Given the description of an element on the screen output the (x, y) to click on. 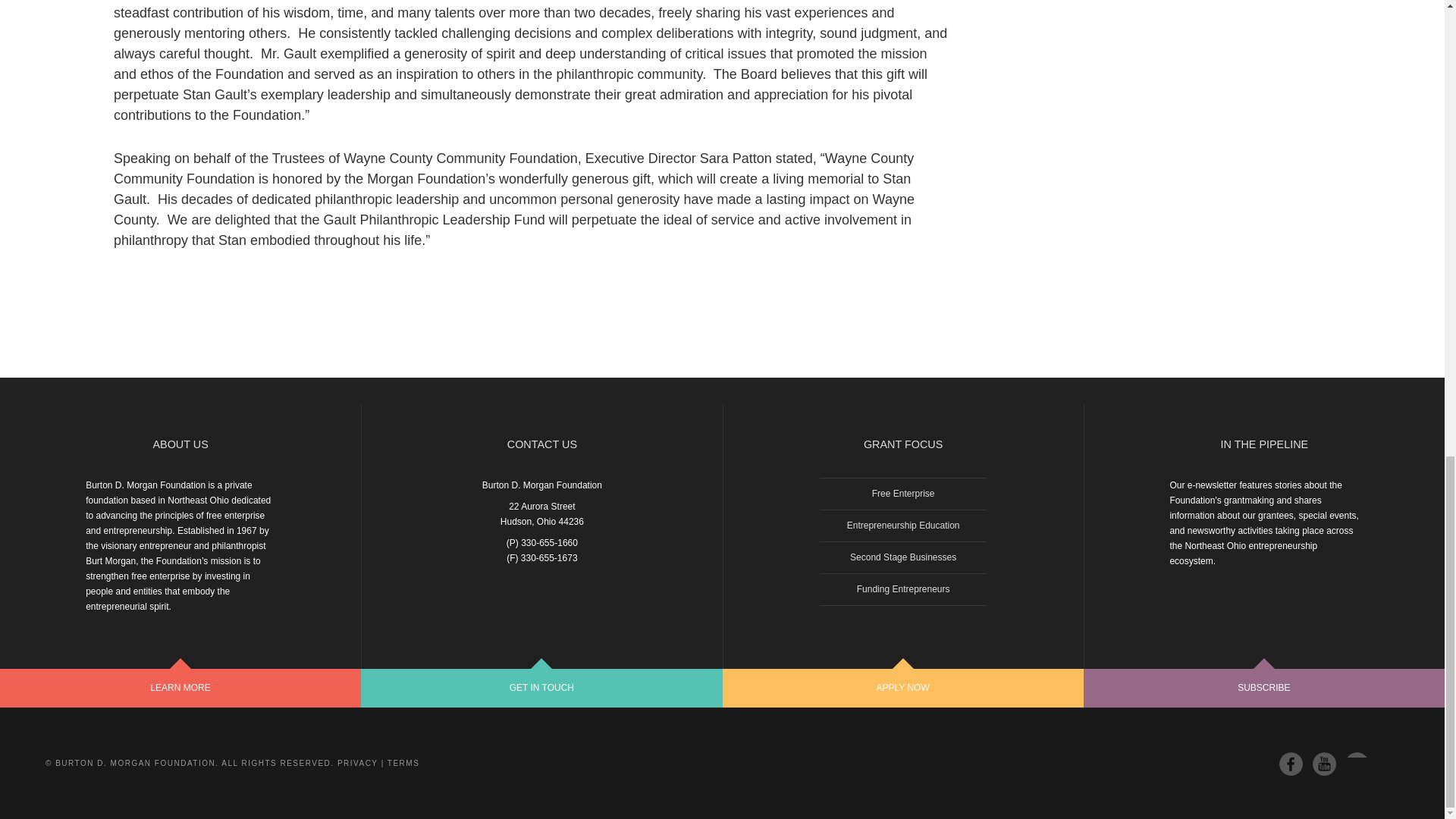
GET IN TOUCH (541, 688)
LEARN MORE (180, 688)
